Given the description of an element on the screen output the (x, y) to click on. 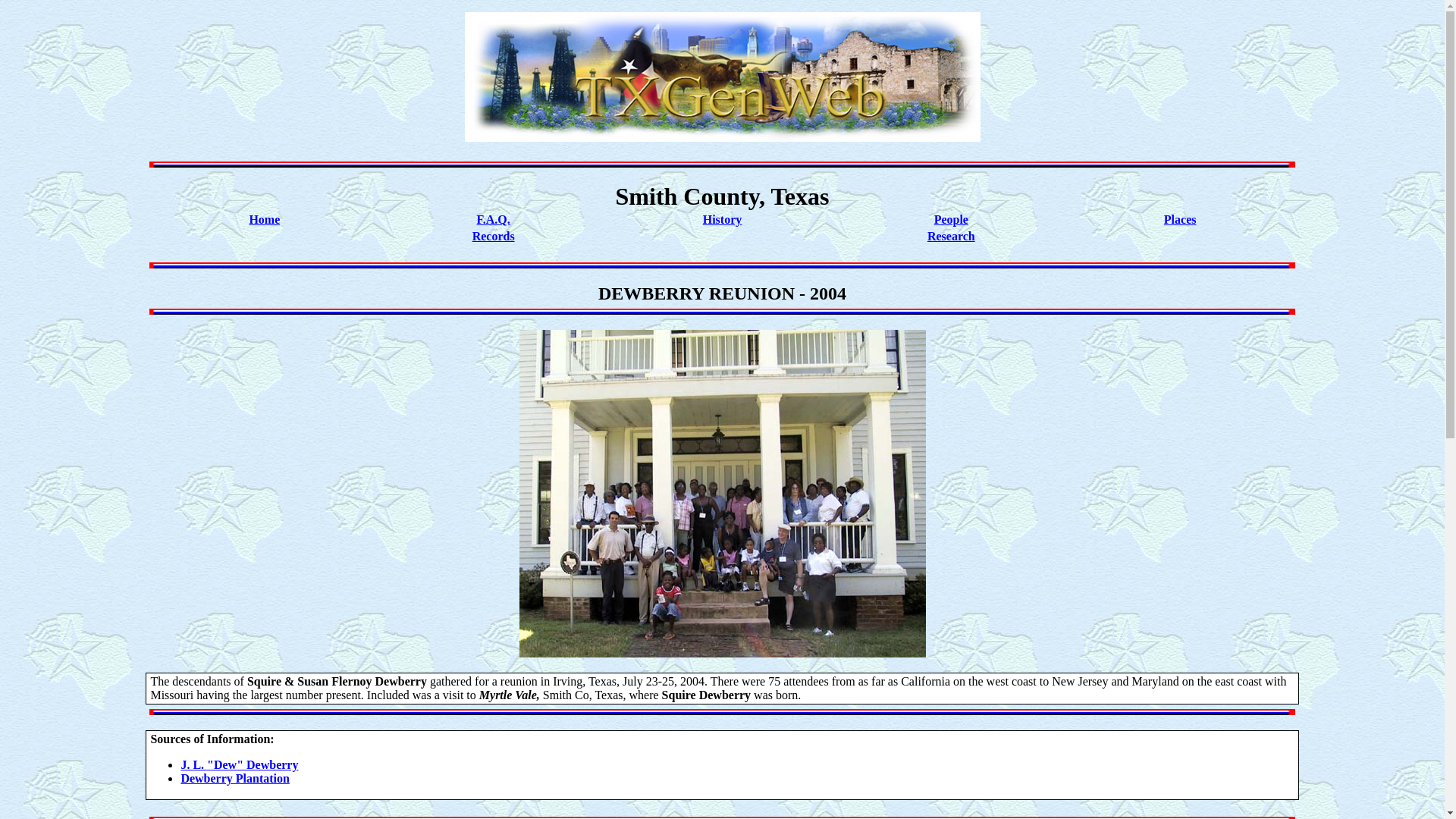
History (722, 219)
Dewberry Plantation (234, 778)
Places (1179, 219)
F.A.Q. (492, 219)
Records (493, 236)
Home (263, 219)
People (951, 219)
Research (951, 236)
J. L. "Dew" Dewberry (239, 764)
